Given the description of an element on the screen output the (x, y) to click on. 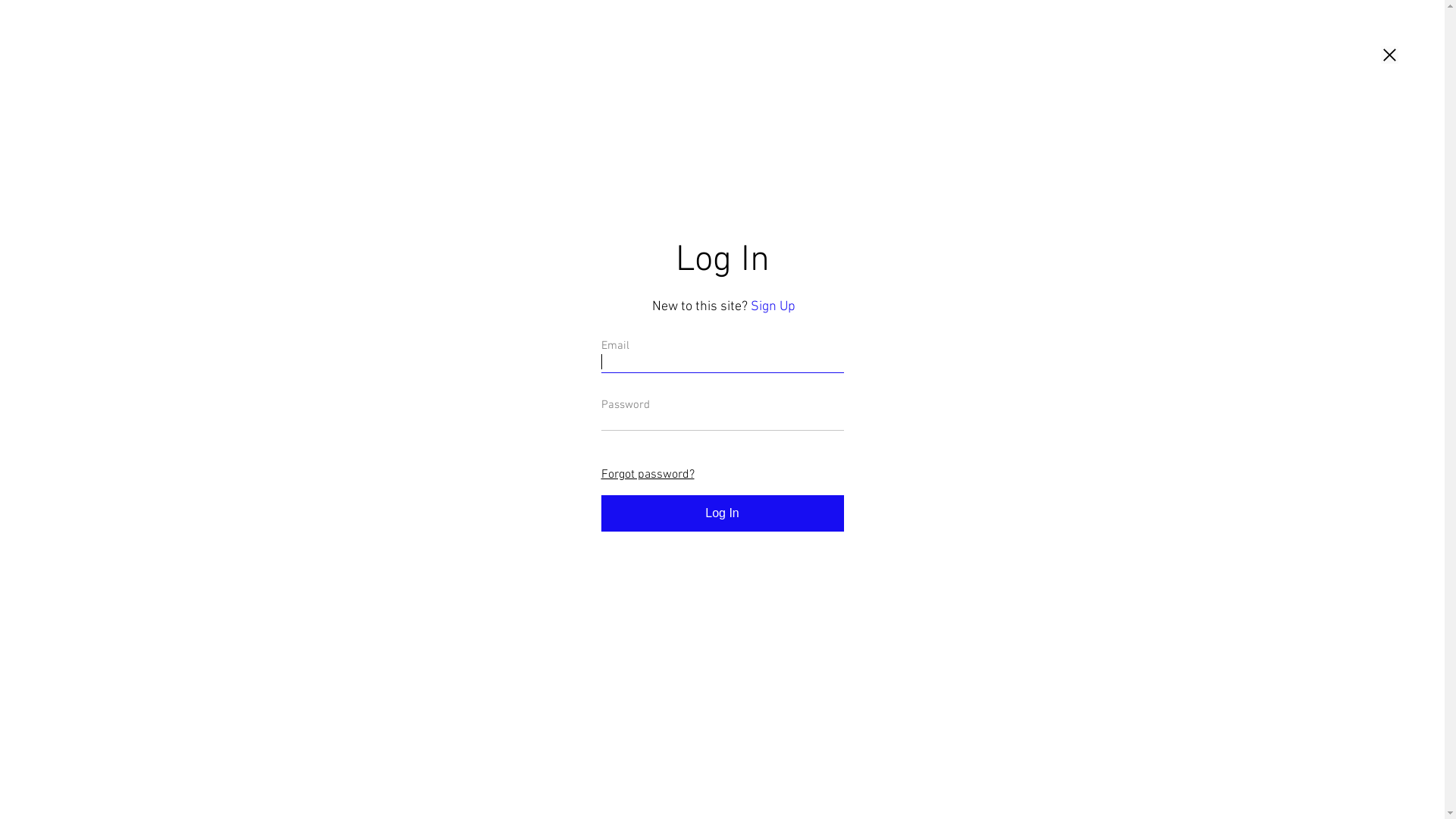
Sign Up Element type: text (772, 306)
Forgot password? Element type: text (646, 474)
Log In Element type: text (721, 513)
